Given the description of an element on the screen output the (x, y) to click on. 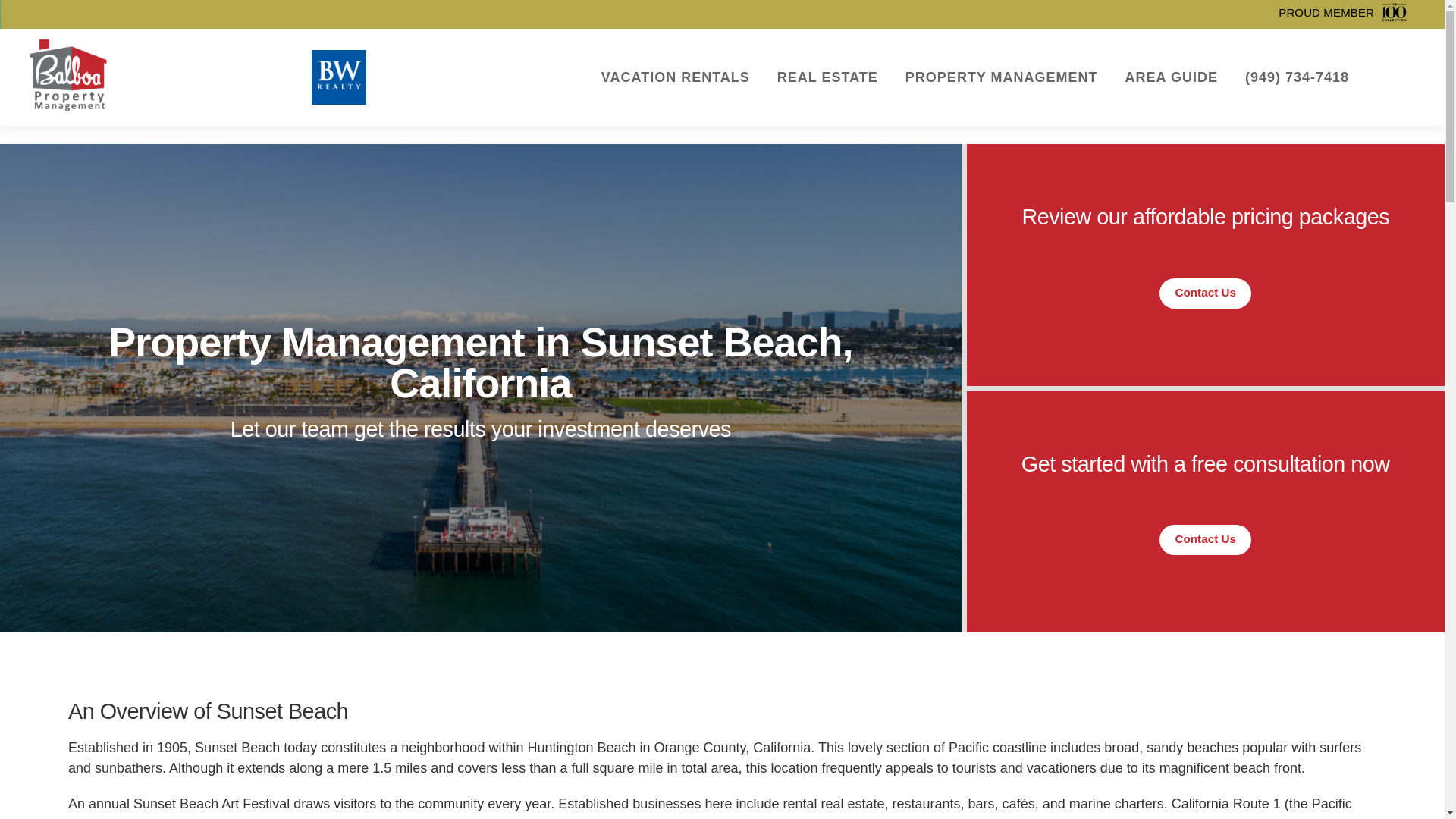
Newport Beach Vacation Properties (68, 76)
Vacation Rentals (675, 77)
Read more (1107, 20)
Contact Us (1204, 293)
Burrwhite Realty (338, 76)
VACATION RENTALS (675, 77)
REAL ESTATE (827, 77)
PROPERTY MANAGEMENT (1001, 77)
Contact Us (1204, 539)
